Given the description of an element on the screen output the (x, y) to click on. 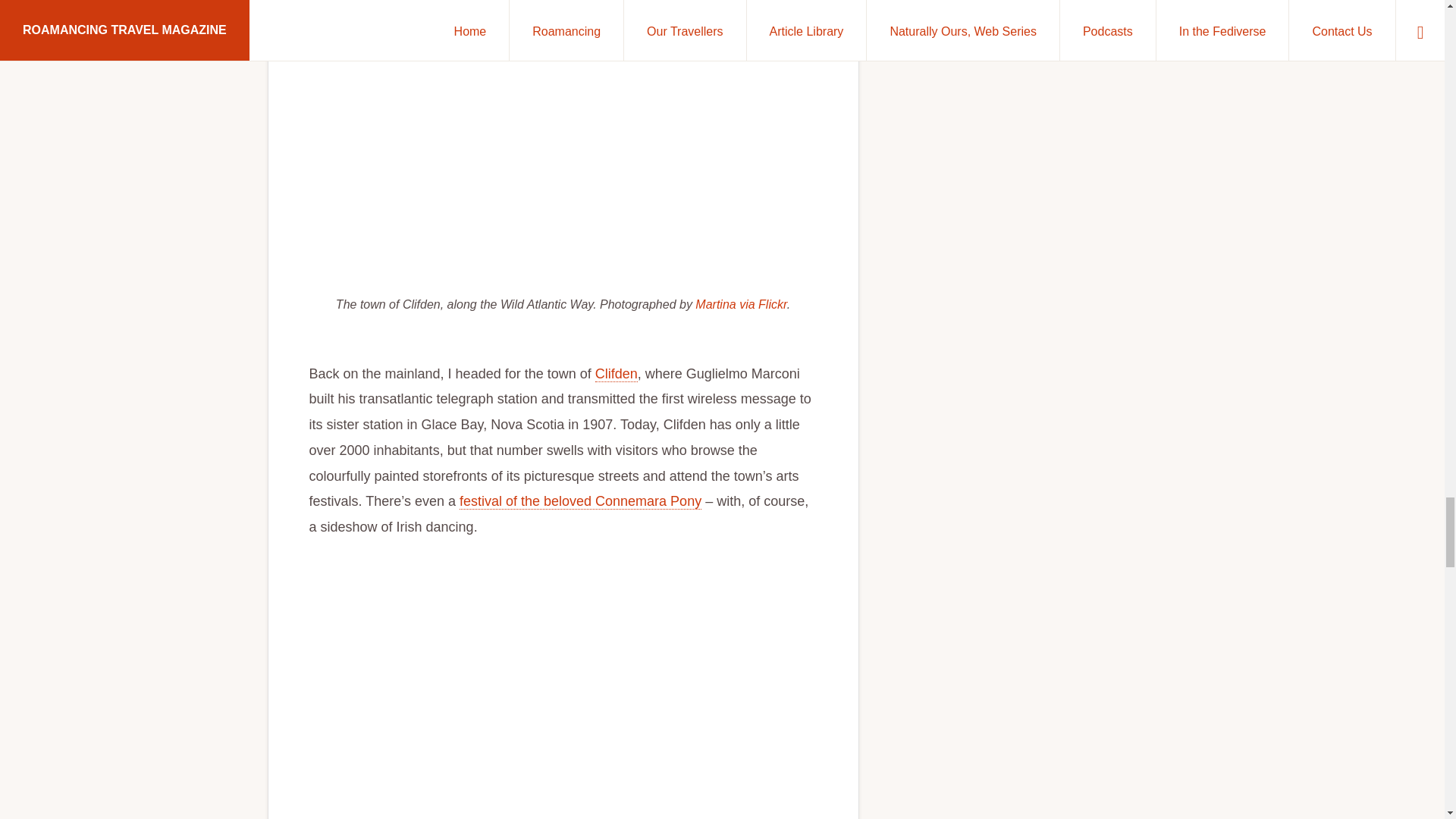
Clifden (616, 374)
festival of the beloved Connemara Pony (580, 501)
Martina via Flickr (740, 304)
